Given the description of an element on the screen output the (x, y) to click on. 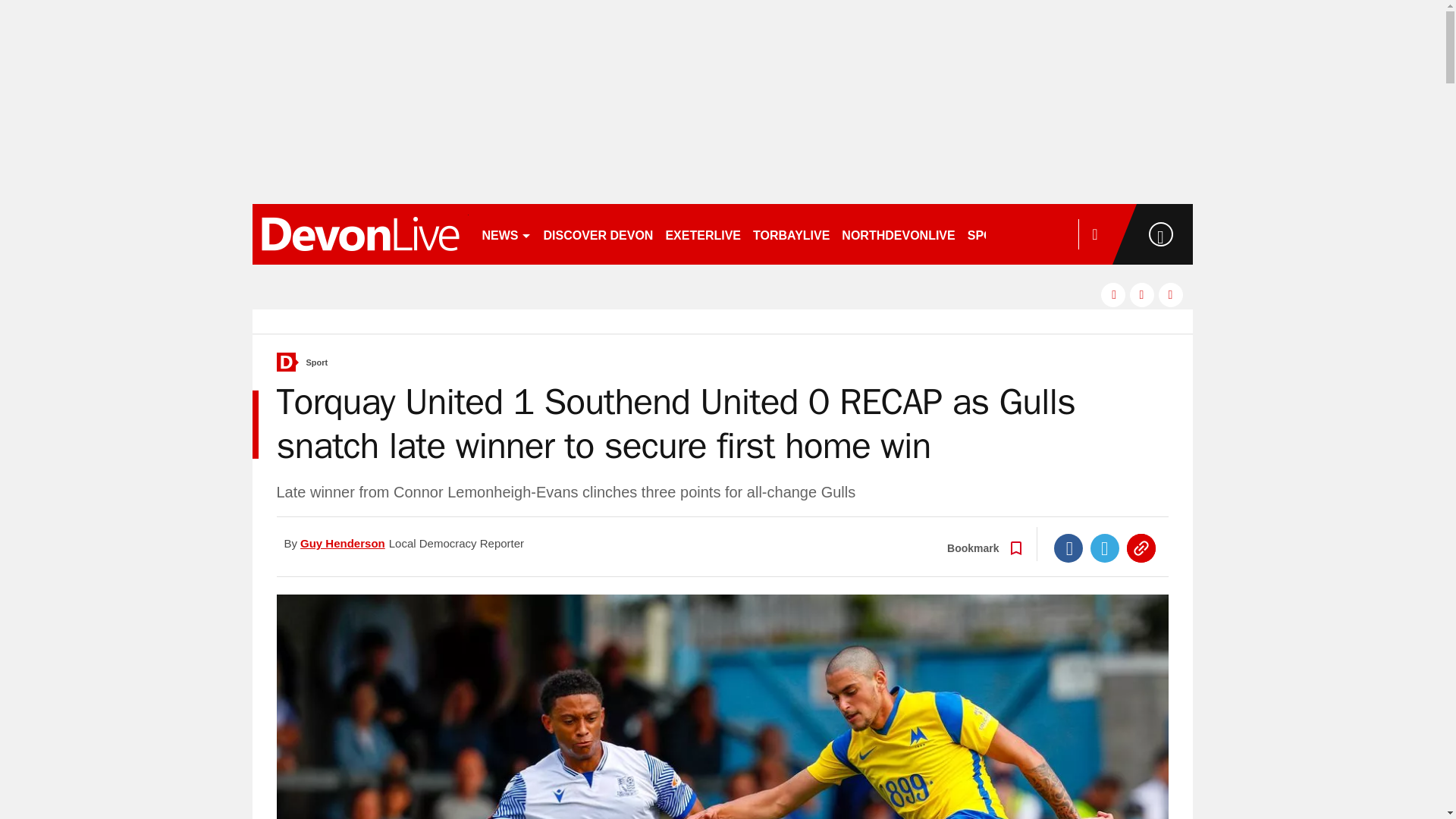
devonlive (359, 233)
DISCOVER DEVON (598, 233)
TORBAYLIVE (790, 233)
SPORT (993, 233)
Twitter (1104, 547)
EXETERLIVE (702, 233)
Facebook (1068, 547)
NORTHDEVONLIVE (897, 233)
NEWS (506, 233)
twitter (1141, 294)
